Given the description of an element on the screen output the (x, y) to click on. 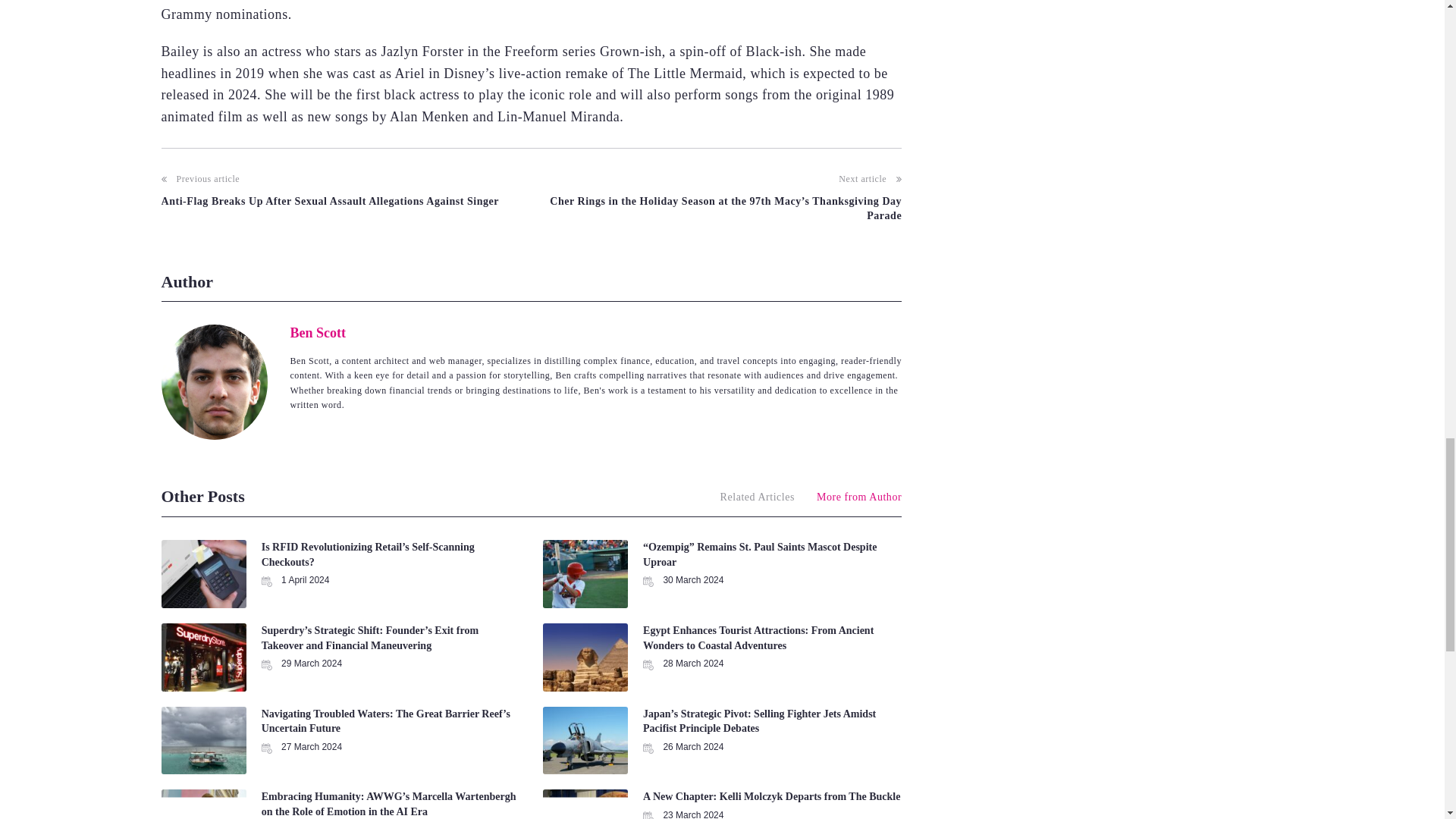
Posts by Ben Scott (317, 332)
A New Chapter: Kelli Molczyk Departs from The Buckle 9 (585, 804)
Ben Scott (317, 332)
